Given the description of an element on the screen output the (x, y) to click on. 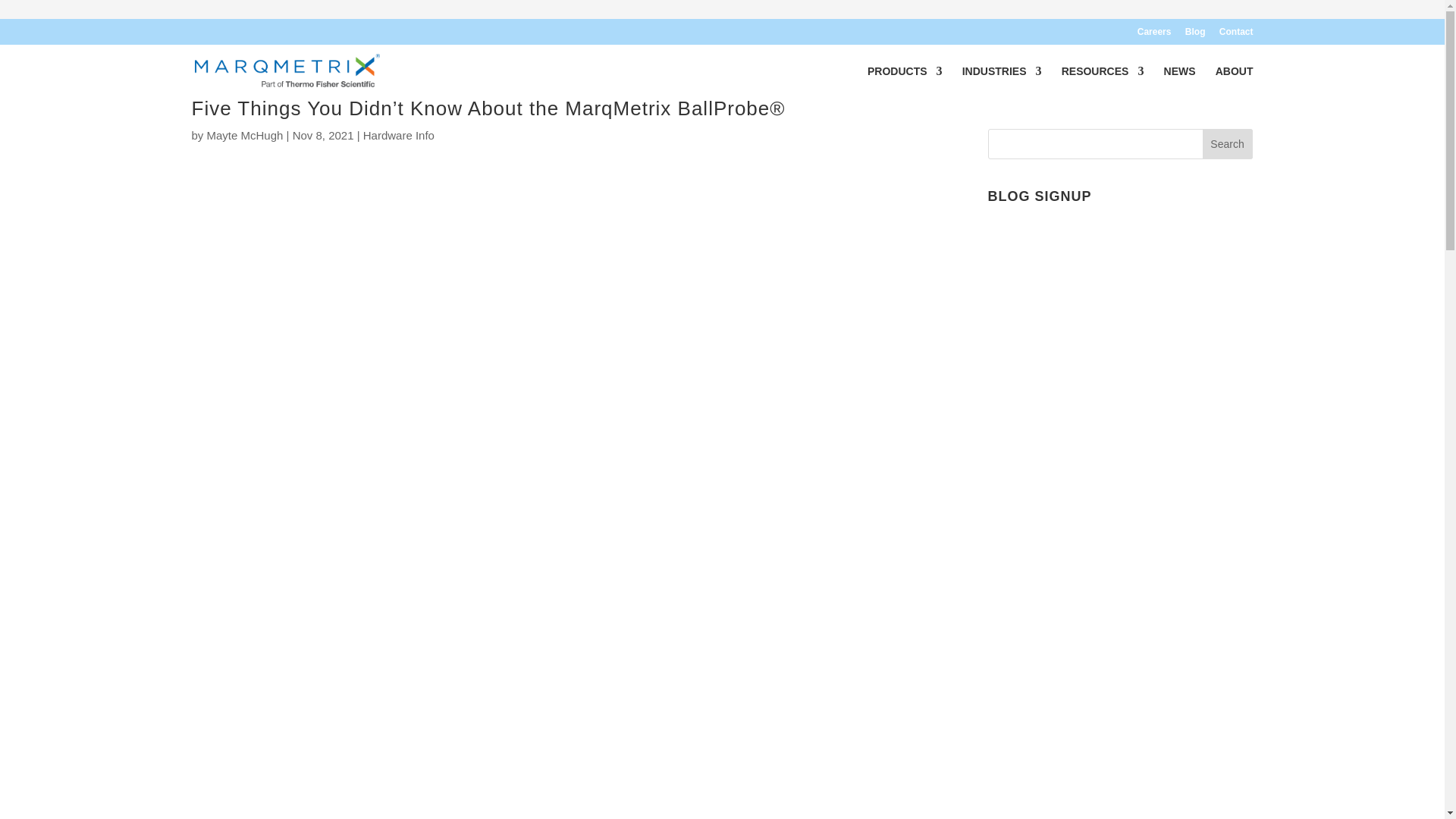
Careers (1154, 35)
PRODUCTS (904, 81)
Mayte McHugh (244, 134)
Posts by Mayte McHugh (244, 134)
INDUSTRIES (1002, 81)
RESOURCES (1102, 81)
ABOUT (1234, 81)
Blog (1195, 35)
NEWS (1179, 81)
Contact (1236, 35)
